Given the description of an element on the screen output the (x, y) to click on. 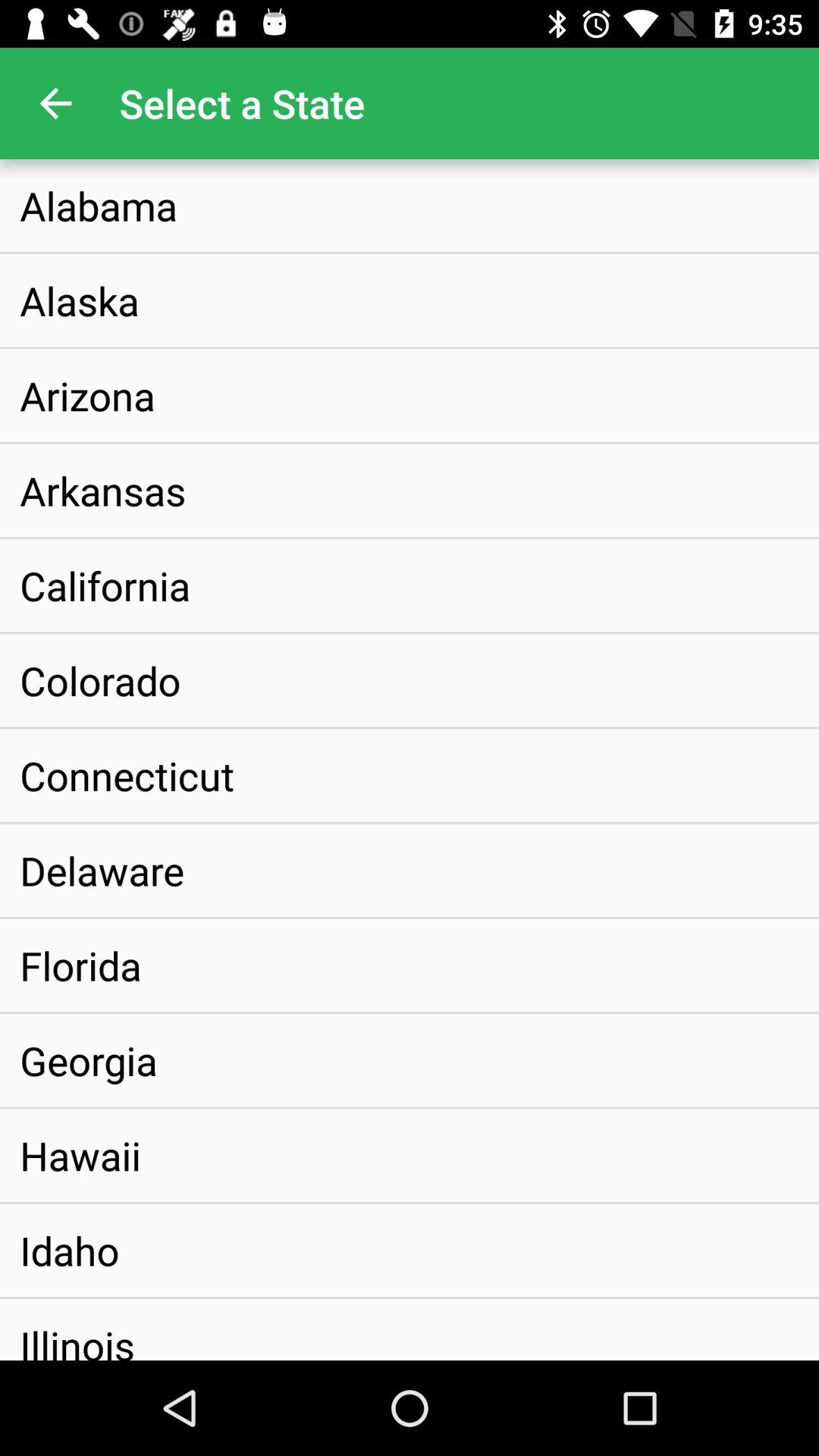
swipe to idaho (69, 1250)
